Given the description of an element on the screen output the (x, y) to click on. 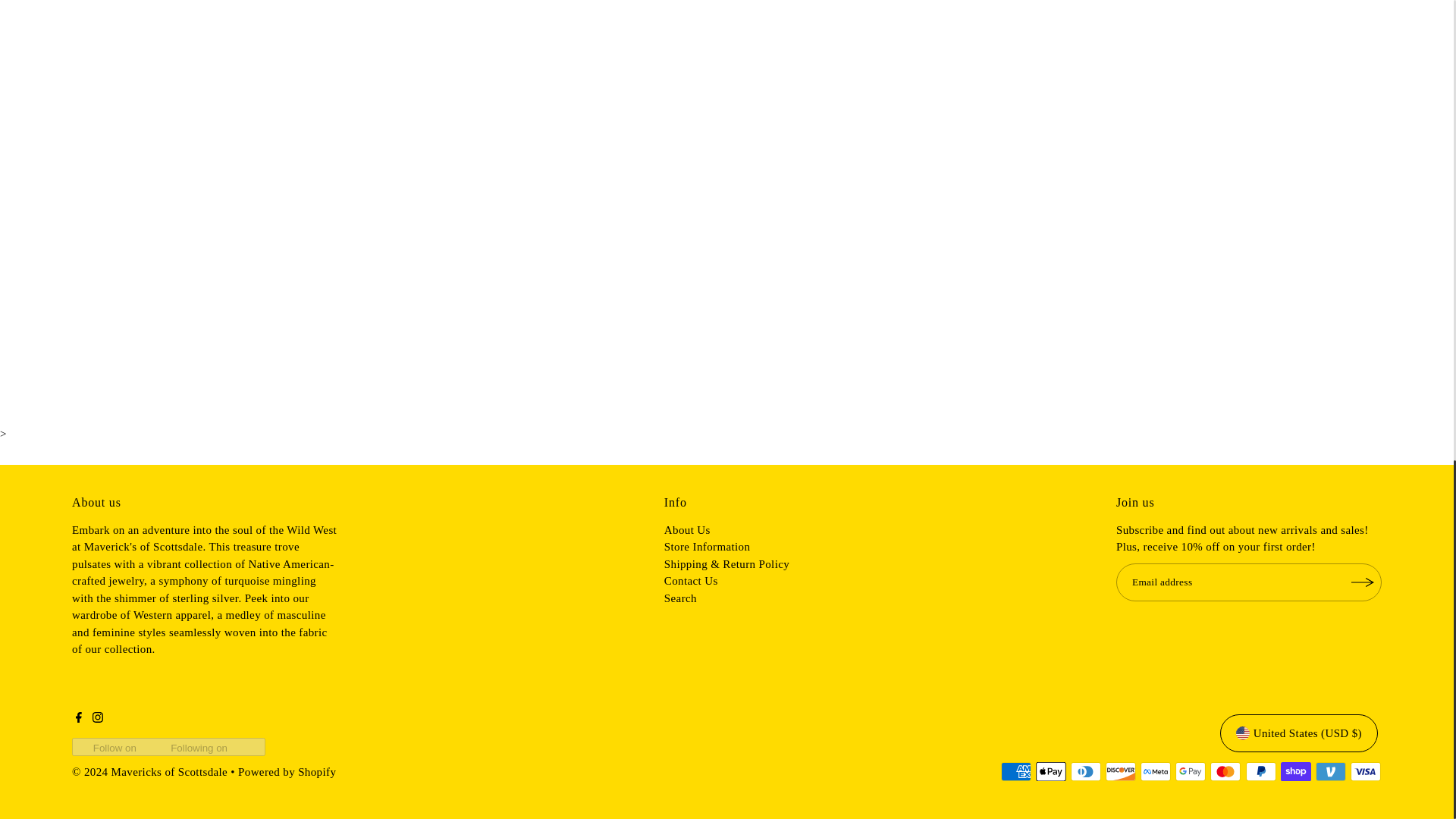
Apple Pay (1050, 771)
American Express (1015, 771)
